Given the description of an element on the screen output the (x, y) to click on. 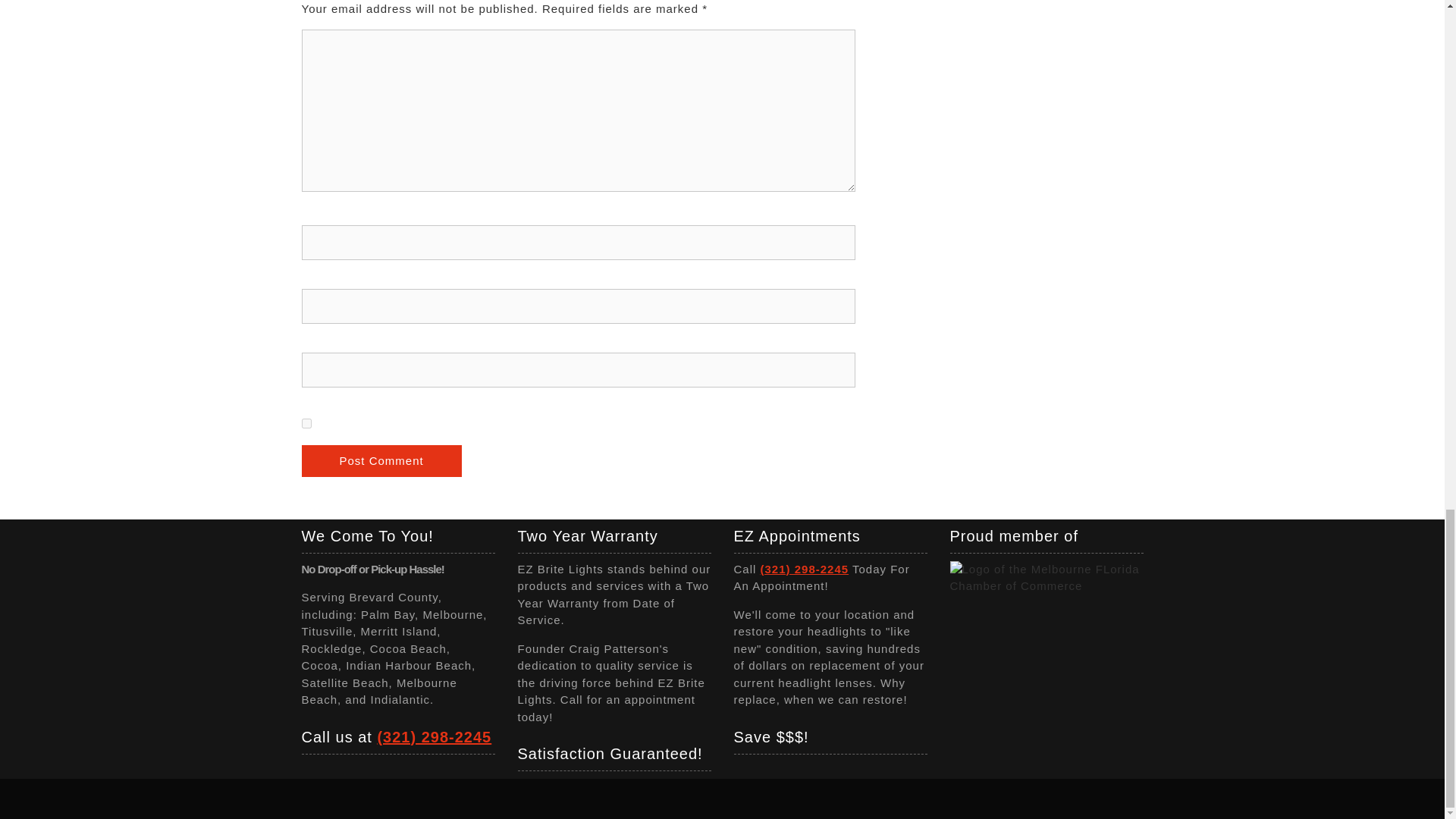
yes (306, 423)
Post Comment (381, 461)
Post Comment (381, 461)
